Given the description of an element on the screen output the (x, y) to click on. 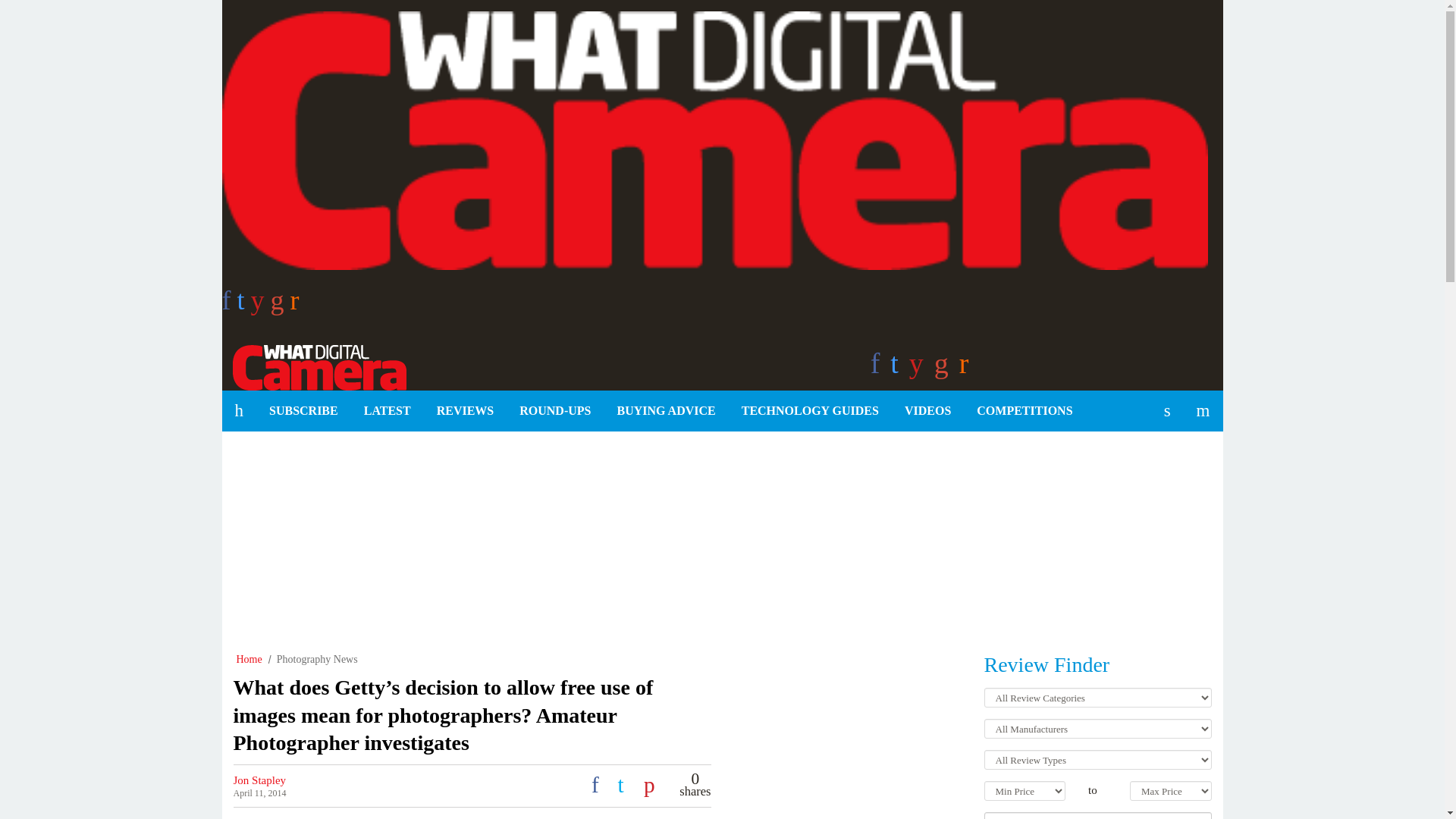
Jon Stapley's Profile (259, 779)
t (242, 305)
BUYING ADVICE (666, 410)
f (228, 305)
g (279, 305)
SUBSCRIBE (303, 410)
What Digital Camera (313, 365)
y (260, 305)
What Digital Camera (313, 365)
ROUND-UPS (555, 410)
